Given the description of an element on the screen output the (x, y) to click on. 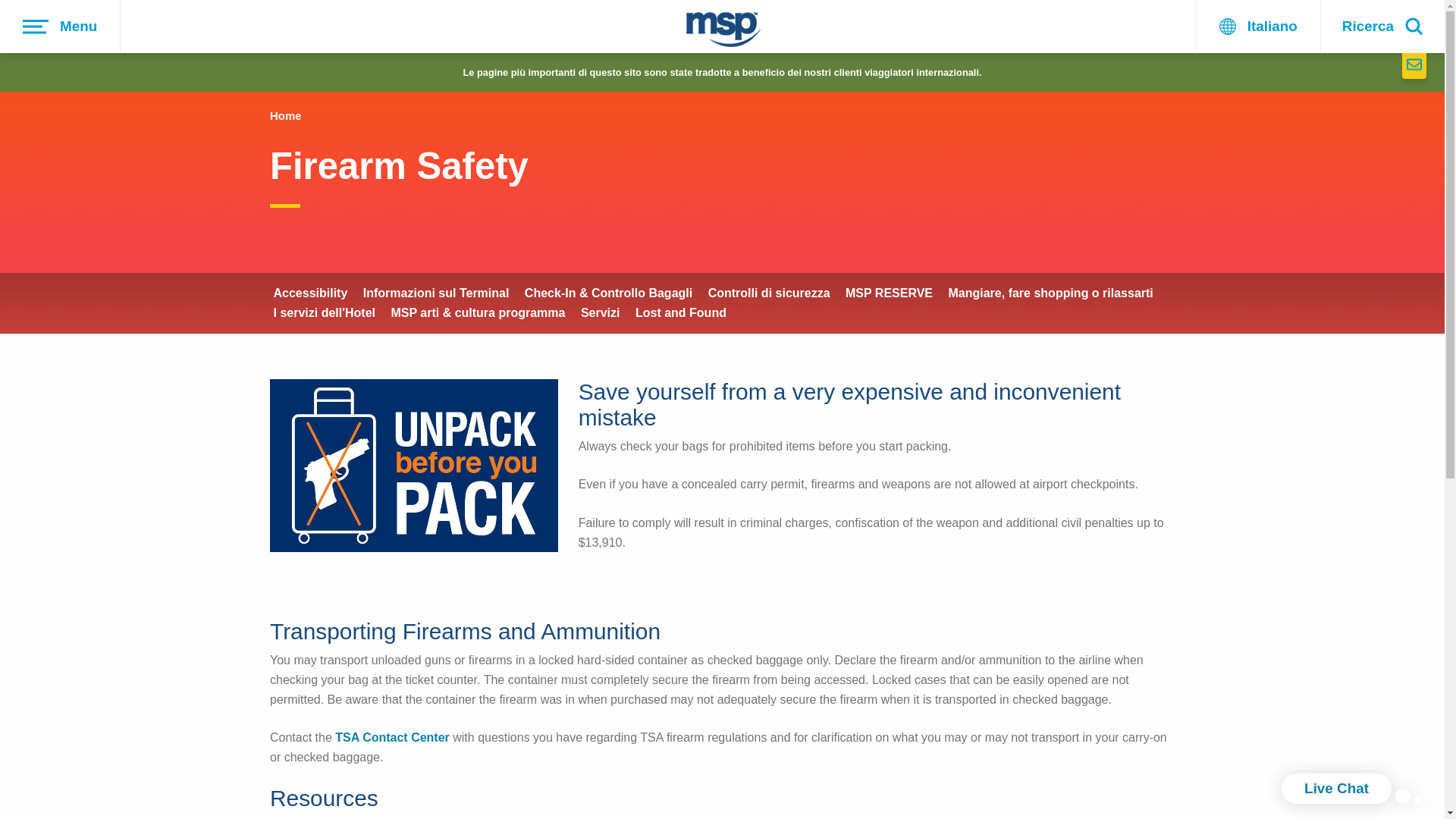
Link back to the homepage. (722, 32)
Italiano (1257, 26)
Home (285, 115)
Home (285, 115)
Informazioni sul Terminal (435, 292)
Accessibility (310, 292)
Menu (60, 26)
Opens MSP Airport newsletter signup form. (1414, 65)
